Given the description of an element on the screen output the (x, y) to click on. 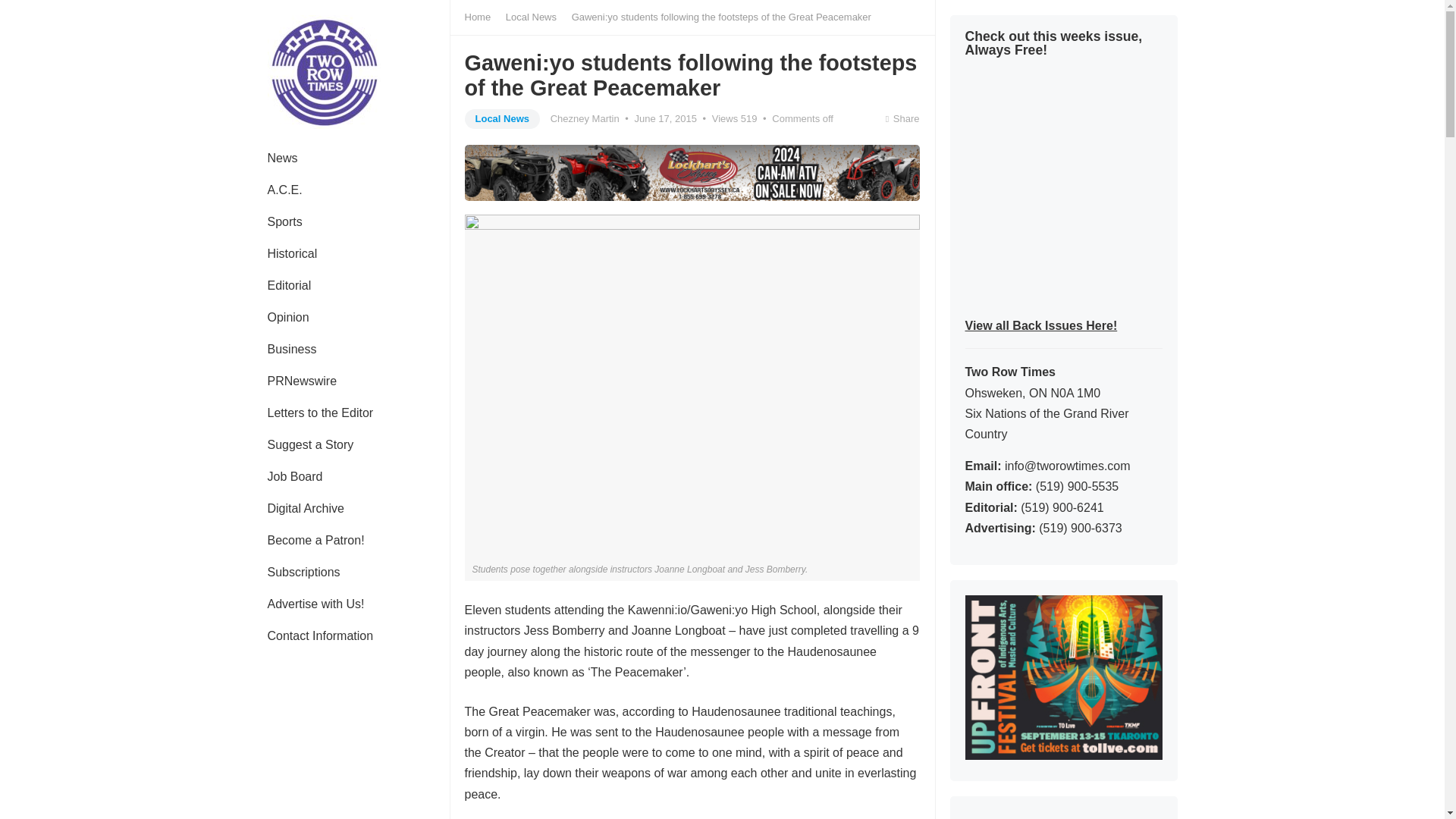
Subscriptions (303, 572)
News (282, 158)
Editorial (288, 286)
Business (291, 349)
Opinion (287, 317)
Suggest a Story (309, 445)
Digital Archive (304, 508)
Sports (284, 222)
Home (482, 16)
Letters to the Editor (319, 413)
